Given the description of an element on the screen output the (x, y) to click on. 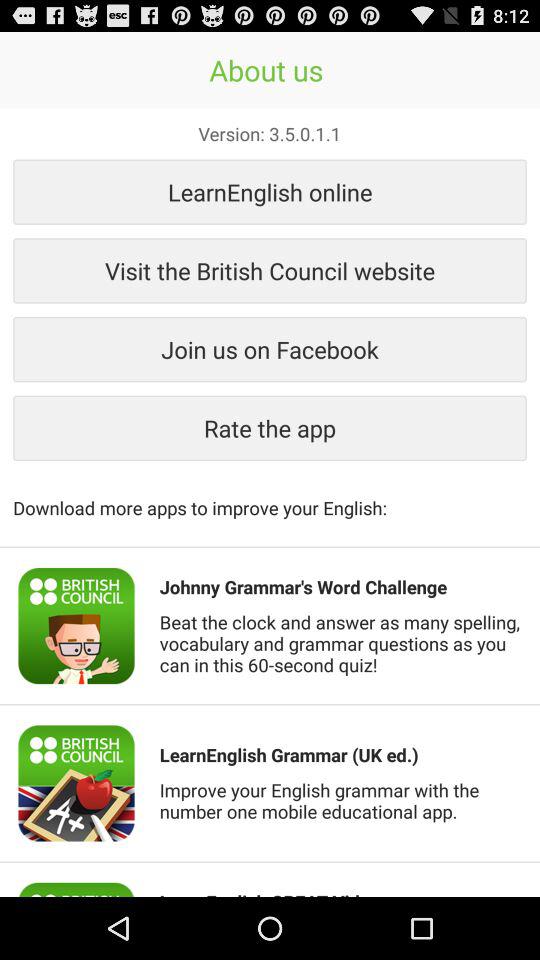
click learnenglish online button (269, 191)
